Given the description of an element on the screen output the (x, y) to click on. 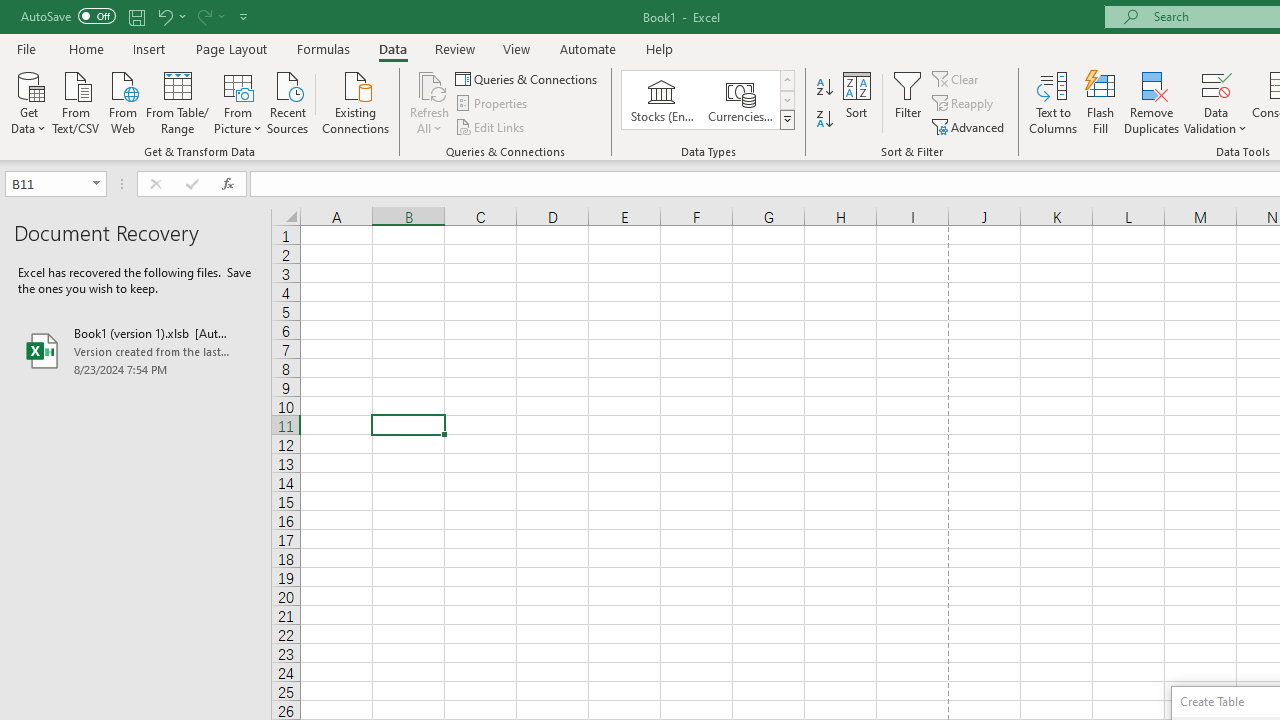
AutoSave (68, 16)
Quick Access Toolbar (136, 16)
Reapply (964, 103)
Undo (170, 15)
Text to Columns... (1053, 102)
From Picture (238, 101)
Open (96, 183)
Data (392, 48)
Sort Z to A (824, 119)
Edit Links (491, 126)
Data Types (786, 120)
AutomationID: ConvertToLinkedEntity (708, 99)
Insert (149, 48)
Sort... (856, 102)
Stocks (English) (662, 100)
